Given the description of an element on the screen output the (x, y) to click on. 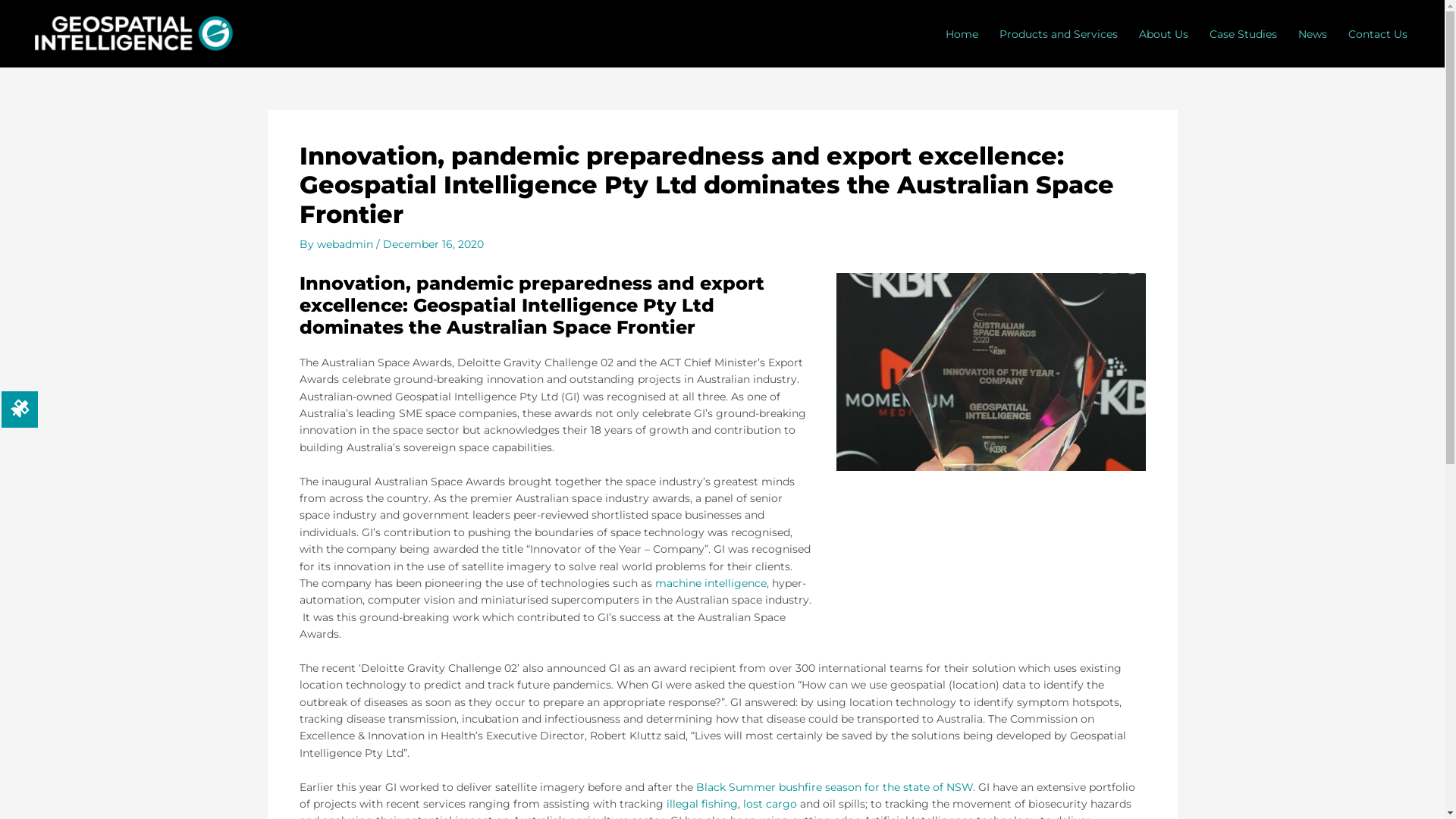
Contact Us Element type: text (1377, 33)
Home Element type: text (961, 33)
Products and Services Element type: text (1058, 33)
Case Studies Element type: text (1242, 33)
News Element type: text (1312, 33)
Black Summer bushfire season for the state of NSW Element type: text (834, 786)
lost cargo Element type: text (770, 803)
webadmin Element type: text (346, 244)
illegal fishing Element type: text (701, 803)
machine intelligence Element type: text (710, 582)
About Us Element type: text (1163, 33)
